Given the description of an element on the screen output the (x, y) to click on. 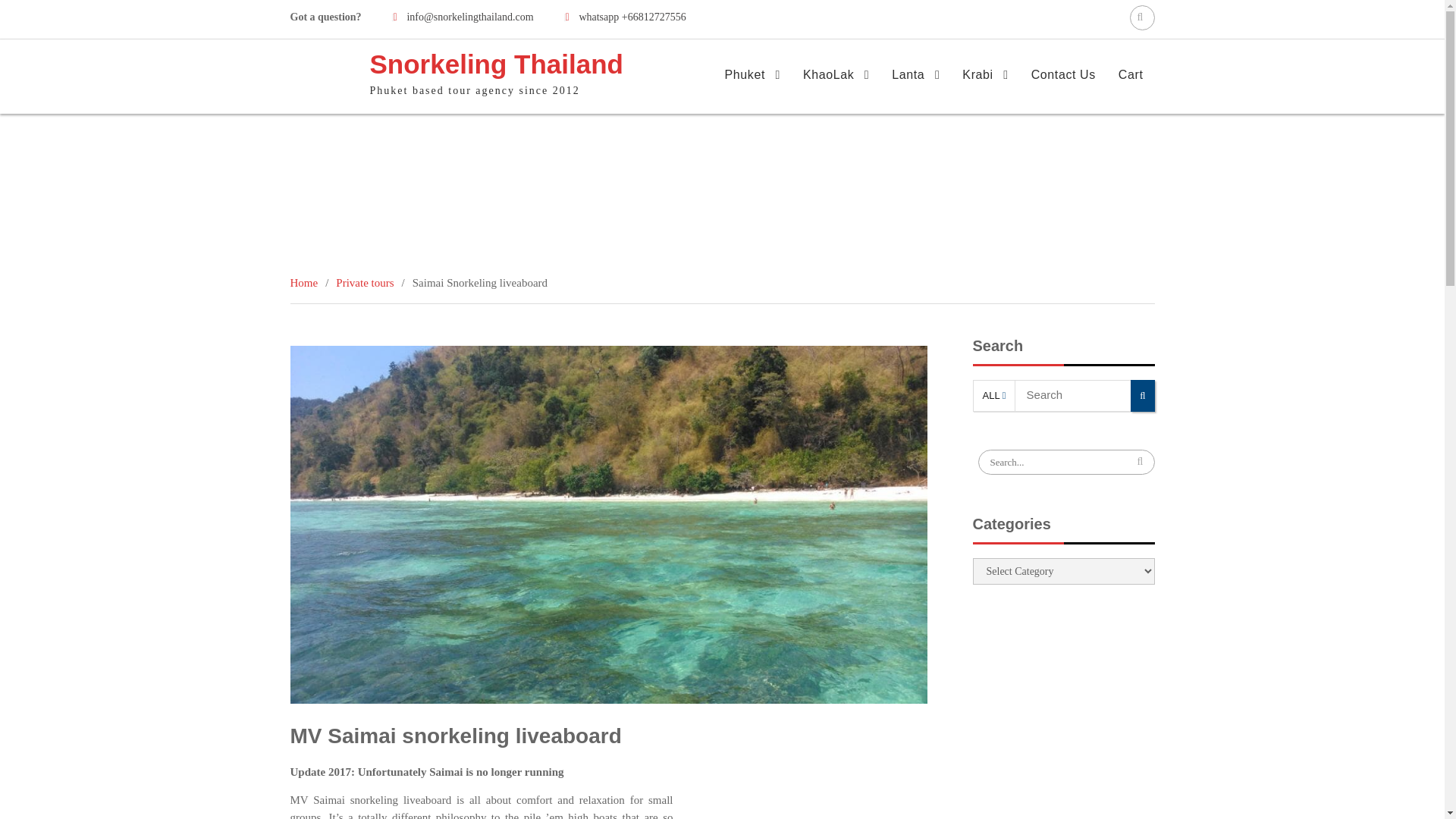
Phuket (752, 74)
Search for: (1066, 462)
Search for: (1141, 17)
Snorkeling Thailand (496, 63)
